Given the description of an element on the screen output the (x, y) to click on. 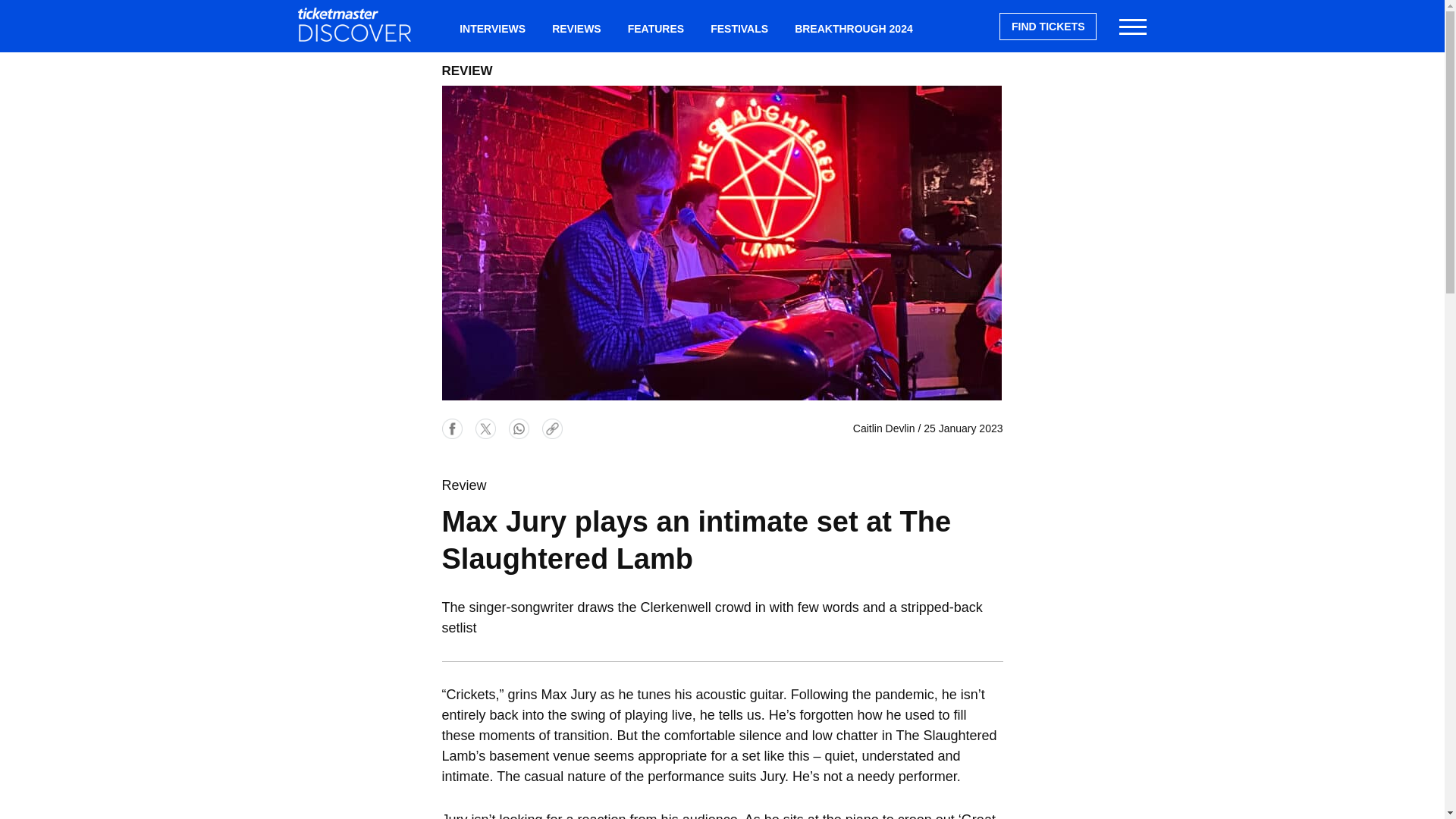
REVIEWS (576, 28)
Caitlin Devlin (884, 428)
FIND TICKETS (1047, 26)
FESTIVALS (738, 28)
FEATURES (655, 28)
BREAKTHROUGH 2024 (853, 28)
INTERVIEWS (492, 28)
